Given the description of an element on the screen output the (x, y) to click on. 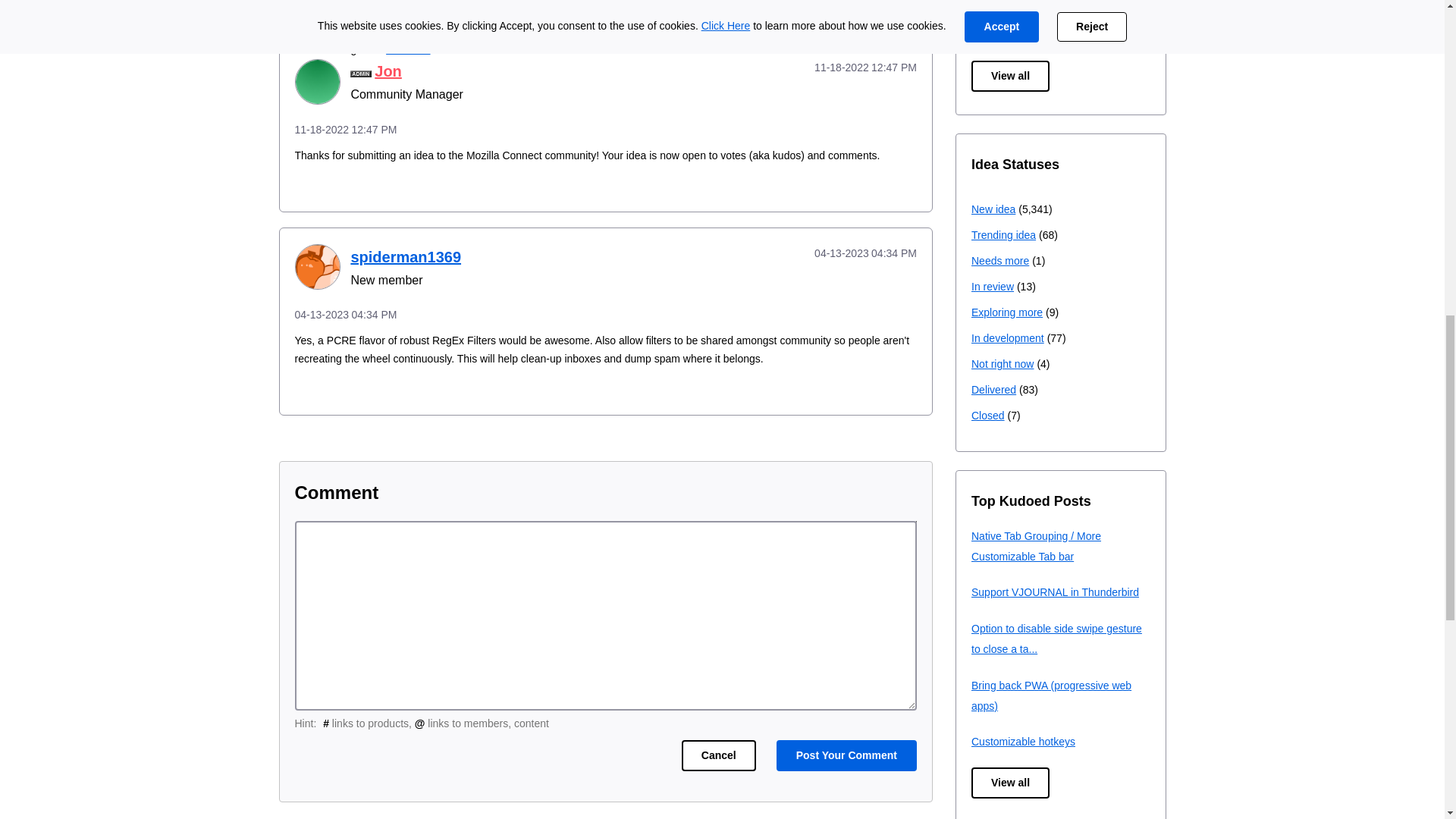
Back to Idea Exchange (714, 3)
Cancel (718, 755)
Posted on (605, 129)
Next (889, 3)
Bookmarks Rework (823, 3)
Post Your Comment (846, 755)
Ideas (714, 3)
Community Manager (360, 73)
Mobile Private Browsing Design Change (889, 3)
New idea (407, 49)
Jon (316, 81)
Posted on (845, 67)
Previous (823, 3)
